Given the description of an element on the screen output the (x, y) to click on. 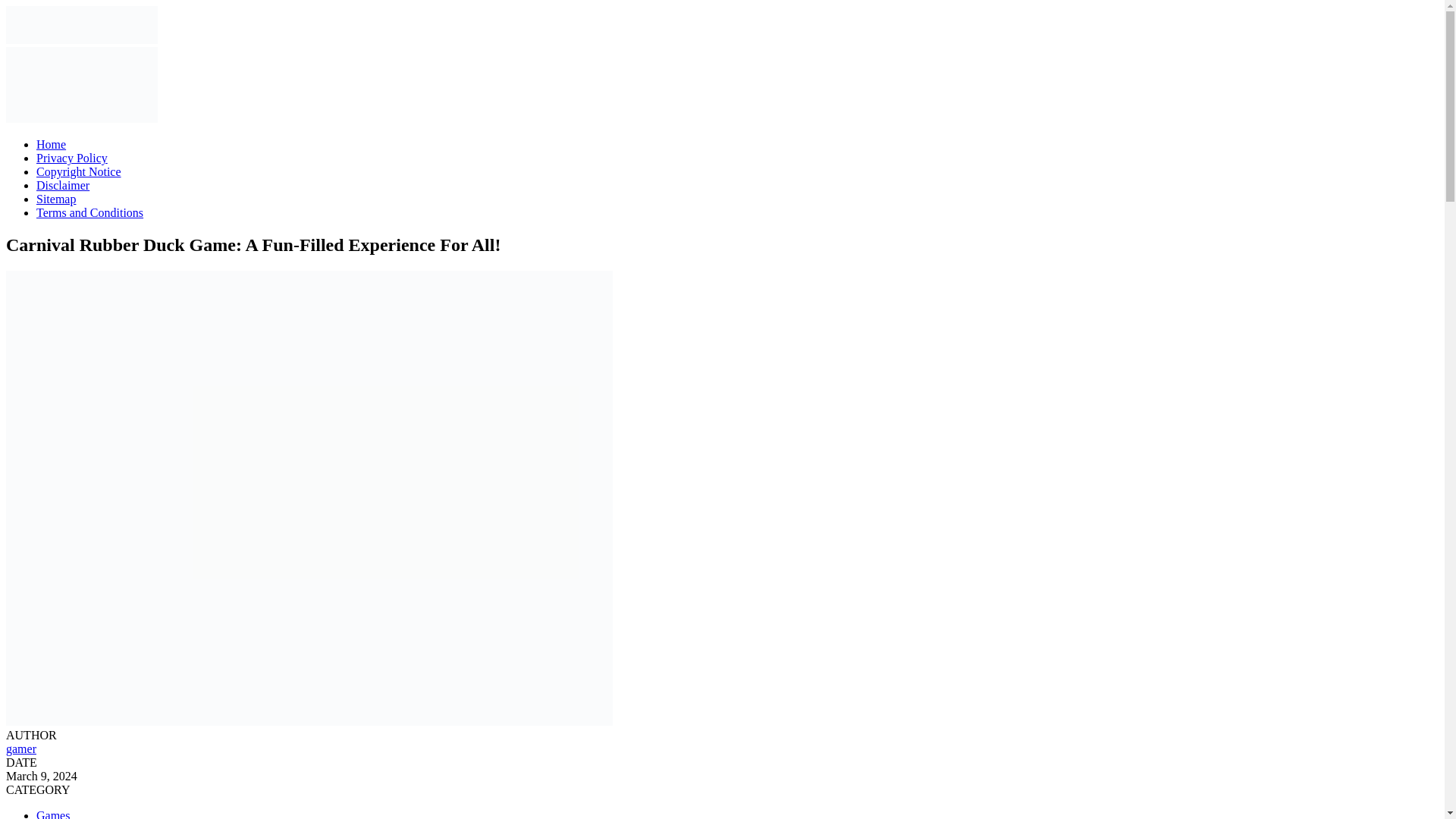
Sitemap (55, 198)
gamer (20, 748)
Privacy Policy (71, 157)
Disclaimer (62, 185)
Home (50, 144)
Posts by gamer (20, 748)
Games (52, 814)
Terms and Conditions (89, 212)
Copyright Notice (78, 171)
